Given the description of an element on the screen output the (x, y) to click on. 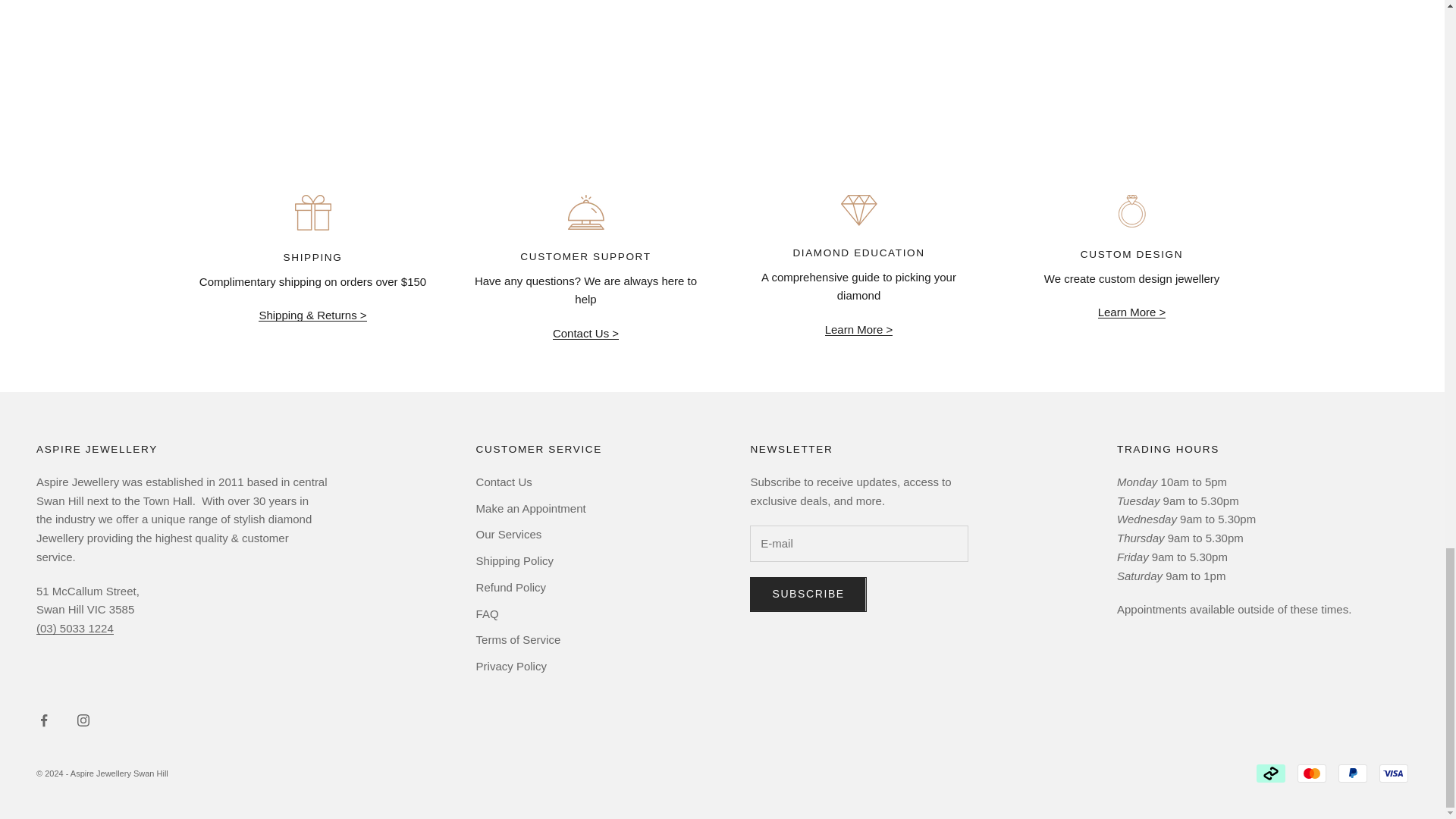
Contact Us (585, 332)
Custom Design (1131, 311)
Diamond Education (859, 328)
Shipping Policy (312, 314)
